Given the description of an element on the screen output the (x, y) to click on. 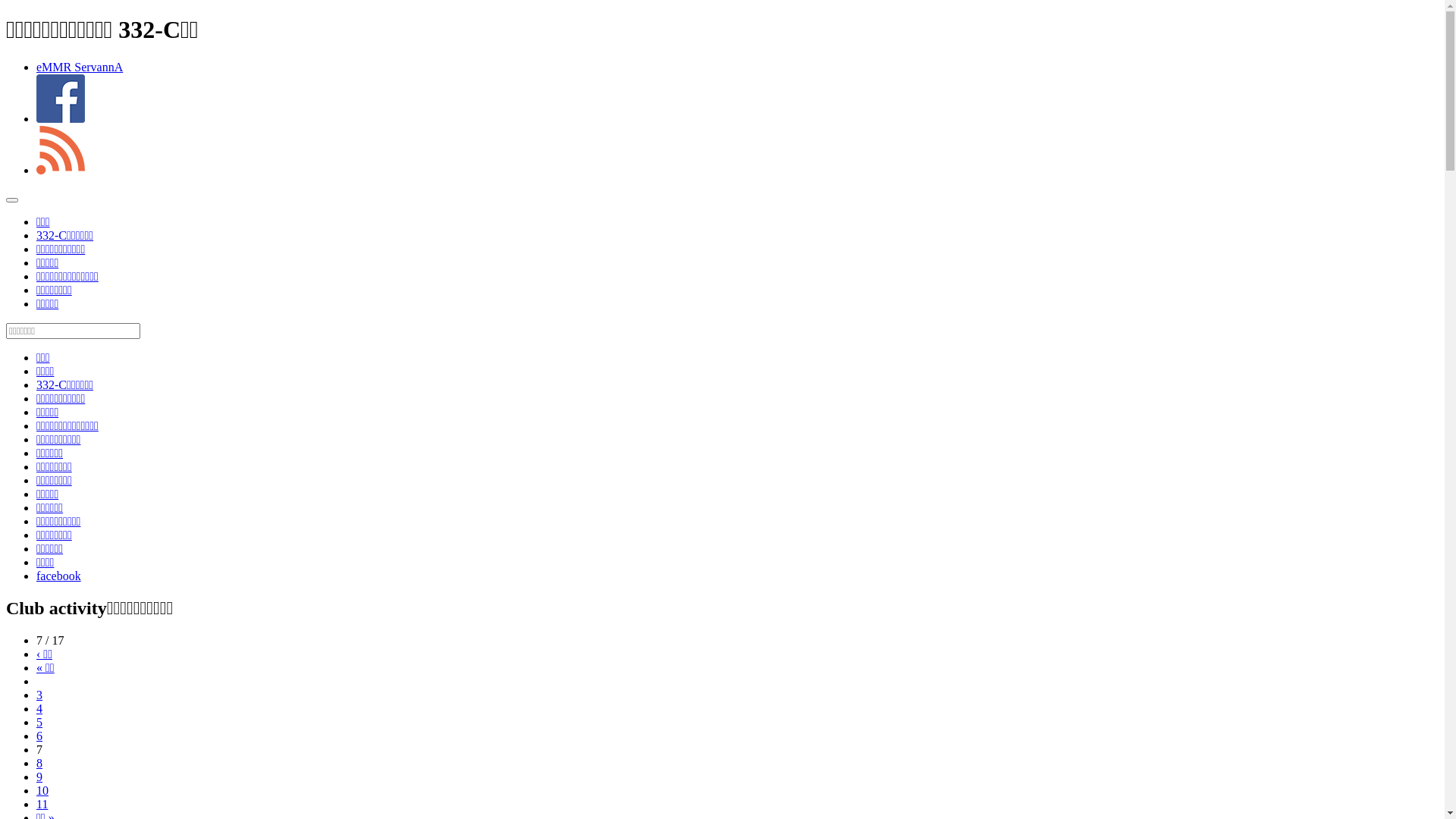
5 Element type: text (39, 721)
9 Element type: text (39, 776)
4 Element type: text (39, 708)
3 Element type: text (39, 694)
10 Element type: text (42, 790)
eMMR ServannA Element type: text (79, 66)
8 Element type: text (39, 762)
facebook Element type: text (58, 575)
11 Element type: text (41, 803)
6 Element type: text (39, 735)
